Given the description of an element on the screen output the (x, y) to click on. 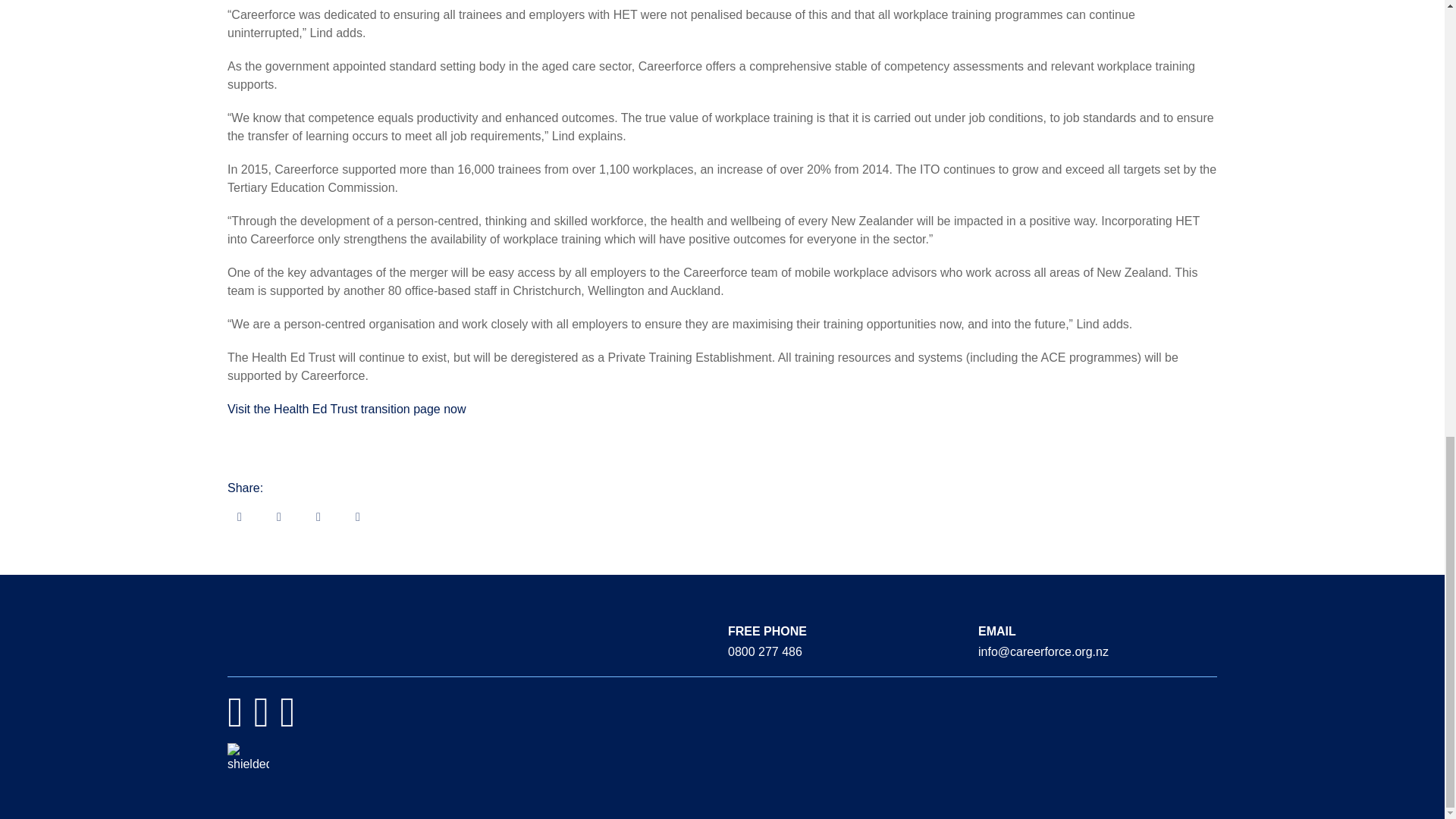
Linked In (357, 515)
E-Mail (239, 515)
Twitter (317, 515)
Facebook (278, 515)
